Given the description of an element on the screen output the (x, y) to click on. 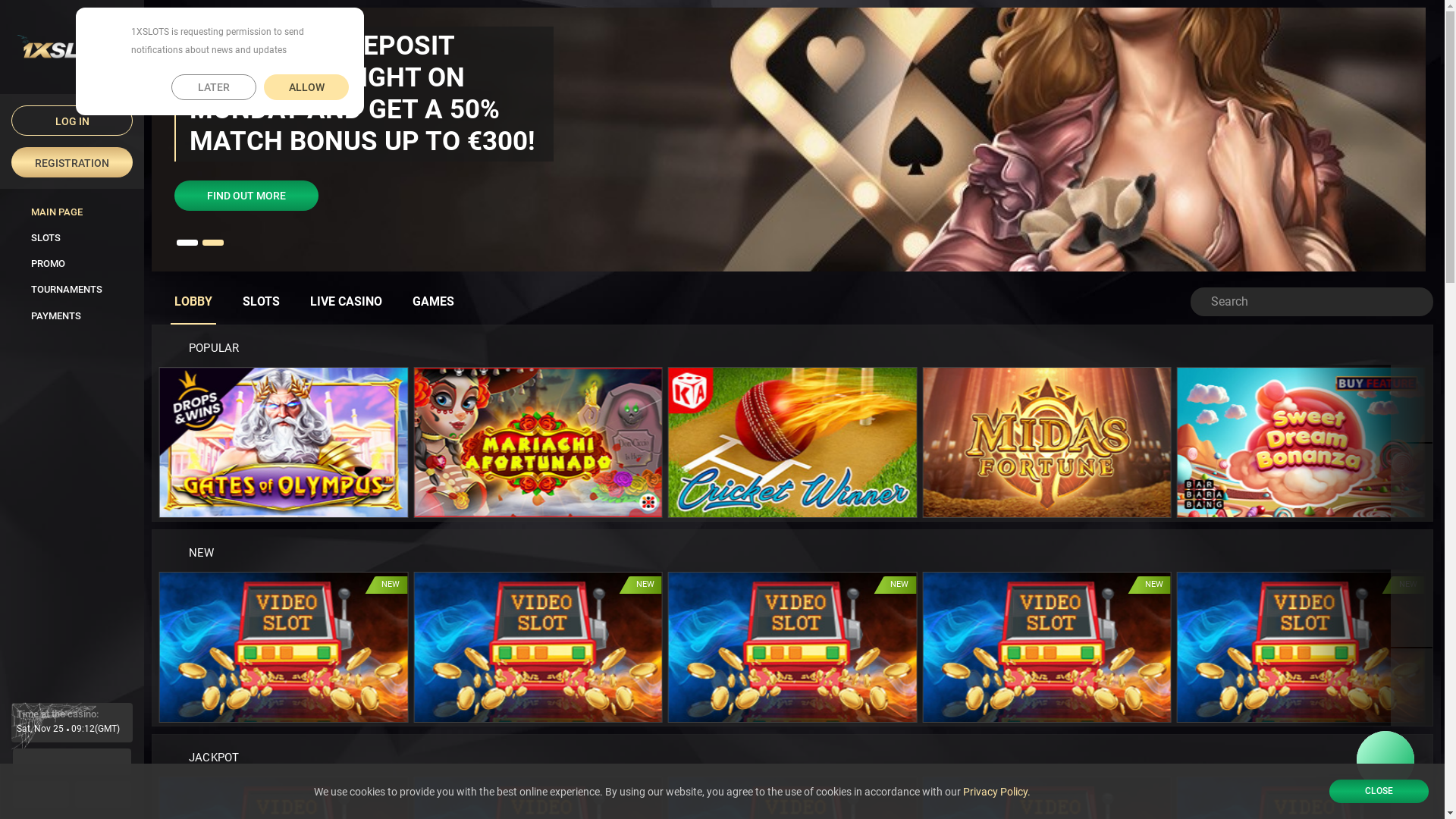
LOG IN Element type: text (71, 120)
Privacy Policy. Element type: text (996, 791)
ALLOW Element type: text (305, 87)
LATER Element type: text (213, 87)
Contacts widget Element type: hover (1385, 759)
PROMO Element type: text (71, 262)
REGISTRATION Element type: text (71, 162)
SLOTS Element type: text (71, 237)
LOBBY Element type: text (193, 301)
PAYMENTS Element type: text (71, 314)
GAMES Element type: text (433, 301)
Go to Home page Element type: hover (71, 44)
LIVE CASINO Element type: text (345, 301)
TOURNAMENTS Element type: text (71, 288)
FIND OUT MORE Element type: text (246, 195)
MAIN PAGE Element type: text (71, 211)
SLOTS Element type: text (260, 301)
CLOSE Element type: text (1378, 791)
